Given the description of an element on the screen output the (x, y) to click on. 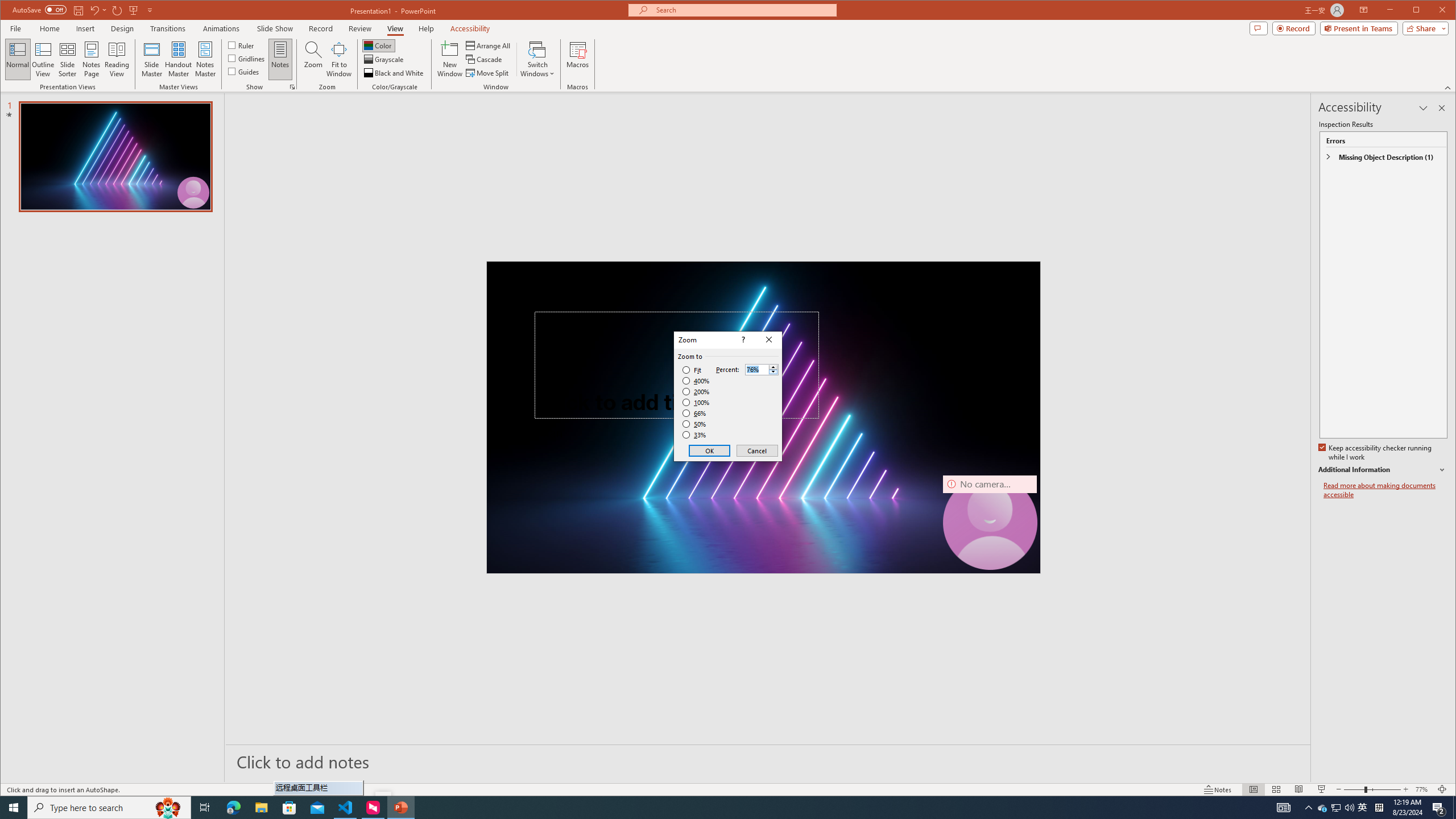
400% (696, 380)
